Given the description of an element on the screen output the (x, y) to click on. 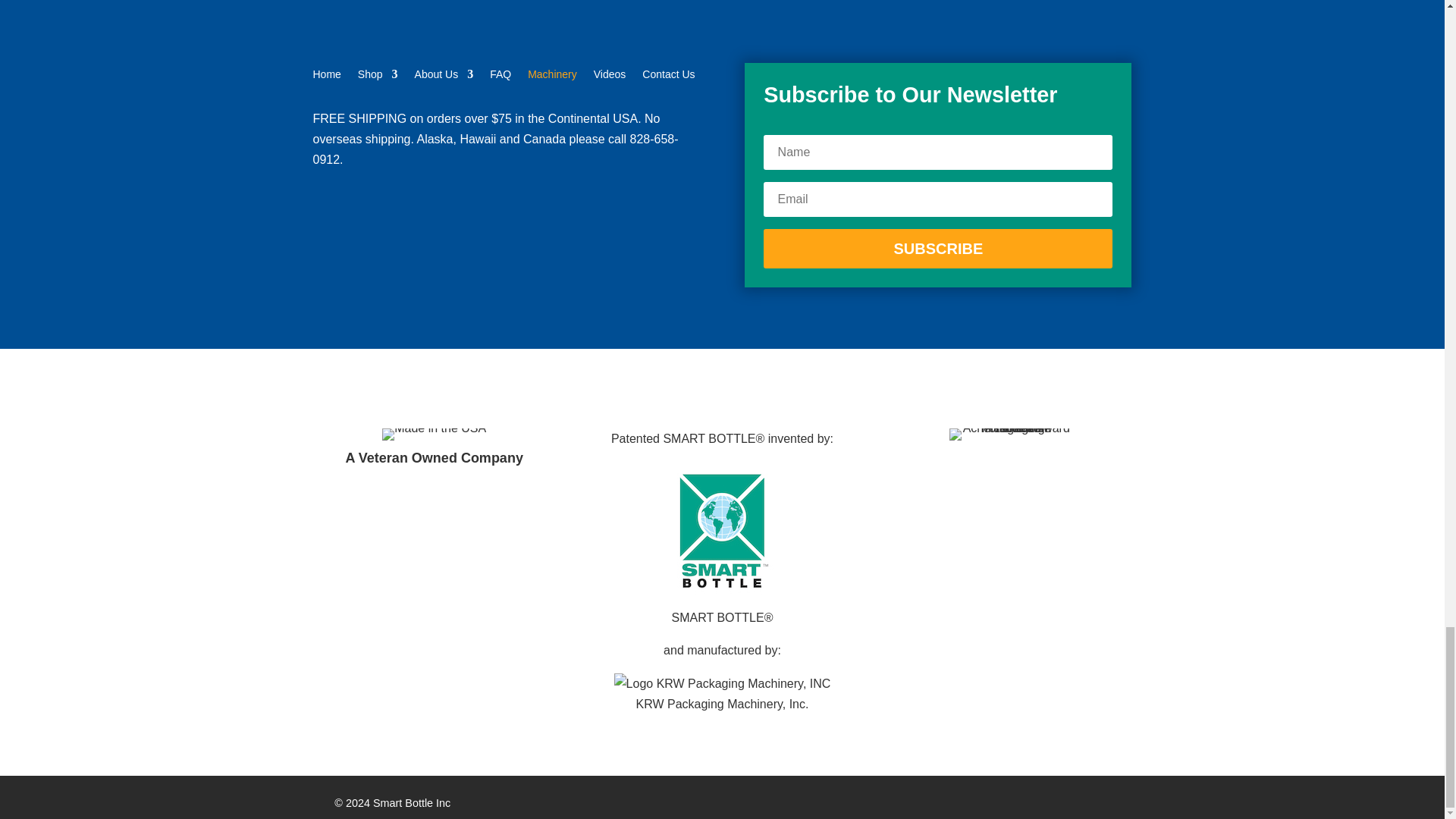
FPA Award (1009, 434)
Shop (377, 76)
SUBSCRIBE (937, 248)
Home (326, 76)
Machinery (551, 76)
Videos (610, 76)
FAQ (500, 76)
Contact Us (668, 76)
828-658-0912. (495, 149)
Made in the USA (433, 434)
About Us (444, 76)
